Given the description of an element on the screen output the (x, y) to click on. 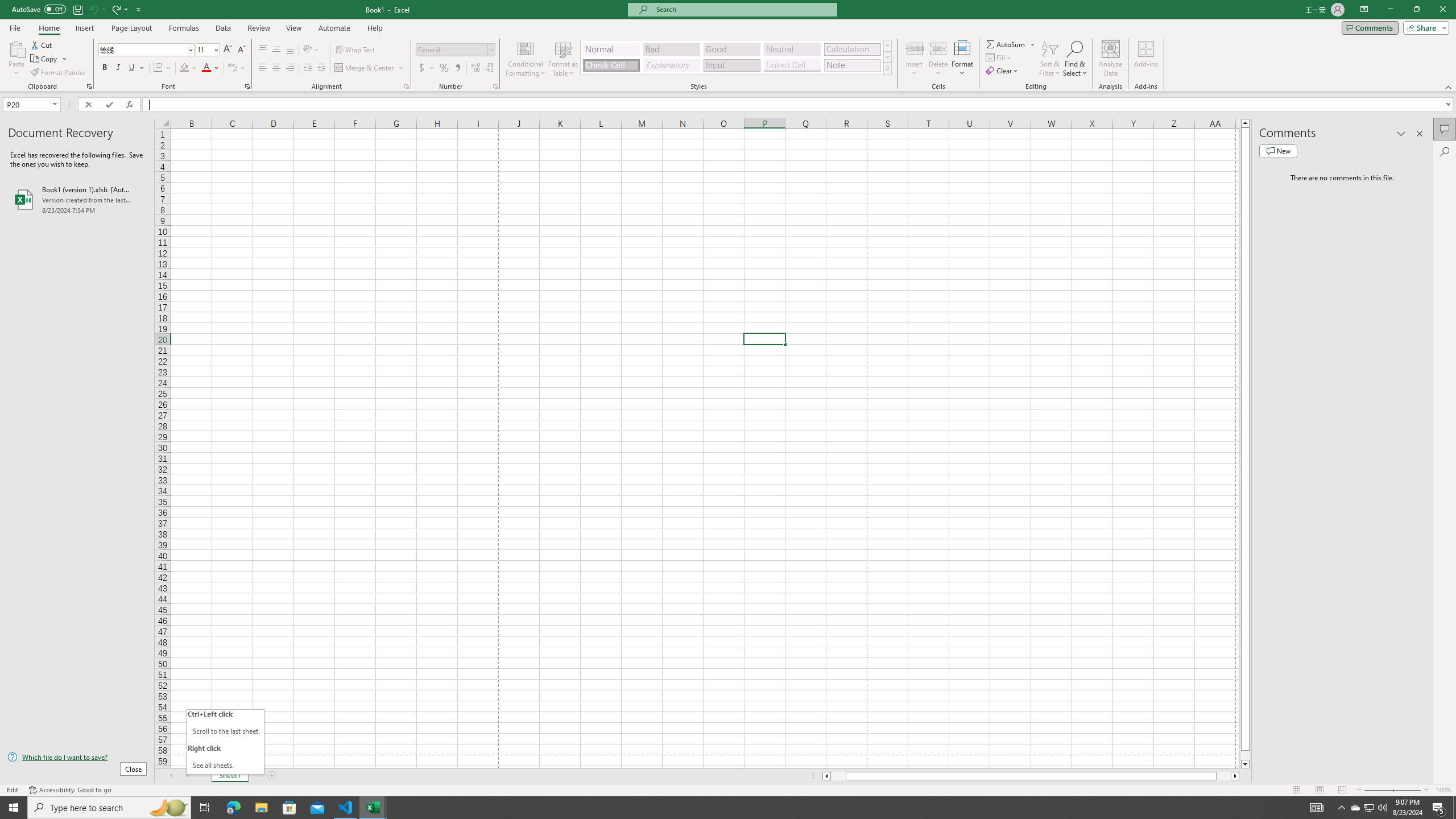
Accounting Number Format (422, 67)
Increase Indent (320, 67)
Underline (136, 67)
Format Cell Number (494, 85)
Accounting Number Format (426, 67)
Format Painter (58, 72)
Delete (938, 58)
Office Clipboard... (88, 85)
Percent Style (443, 67)
